Given the description of an element on the screen output the (x, y) to click on. 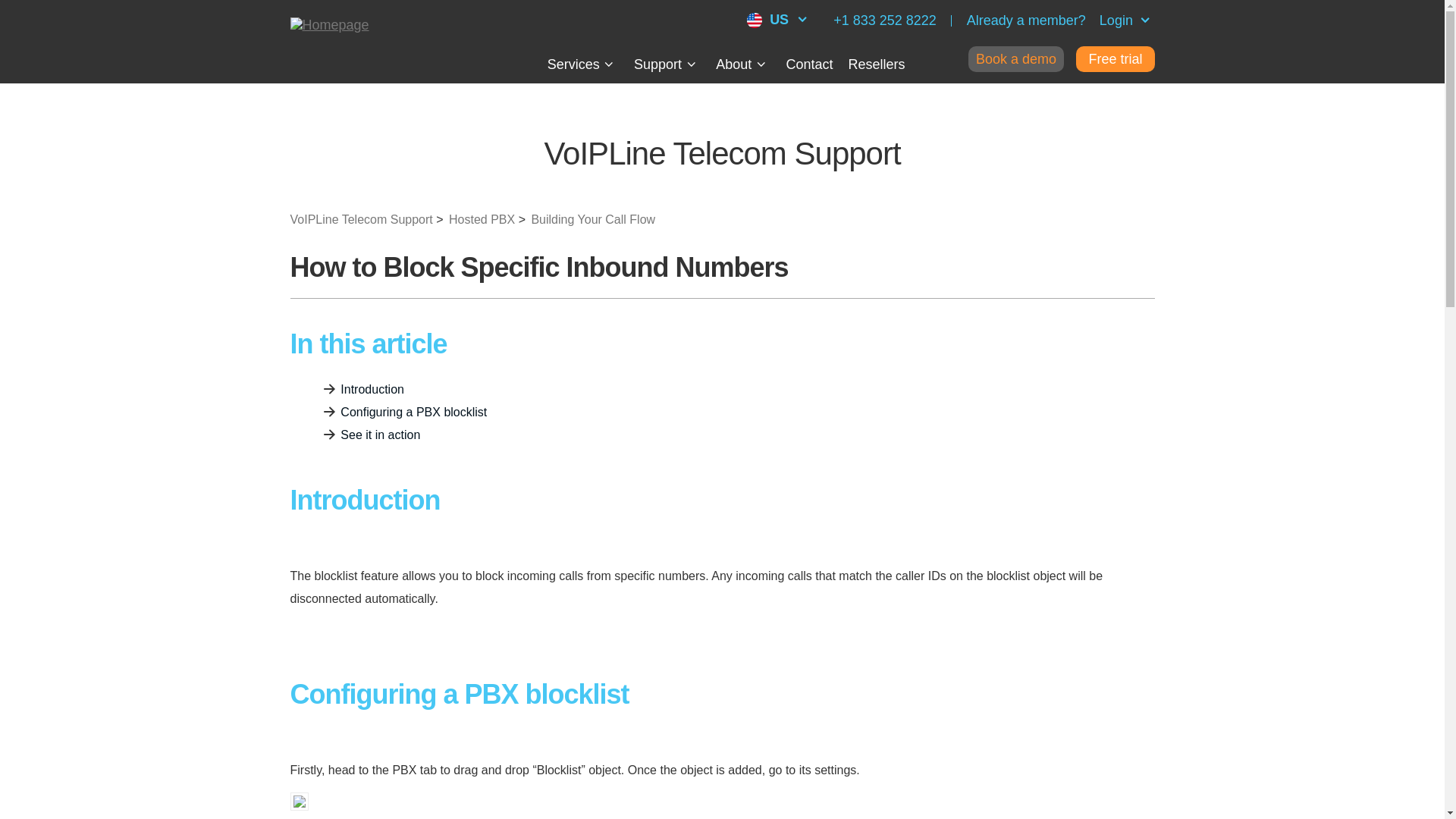
Contact (809, 64)
About (743, 64)
Book a demo (1016, 58)
US (778, 20)
Resellers (875, 64)
Building Your Call Flow (586, 219)
Free trial (1114, 58)
Hosted PBX (475, 219)
VoIPLine Telecom Support (360, 219)
Support (666, 64)
